Given the description of an element on the screen output the (x, y) to click on. 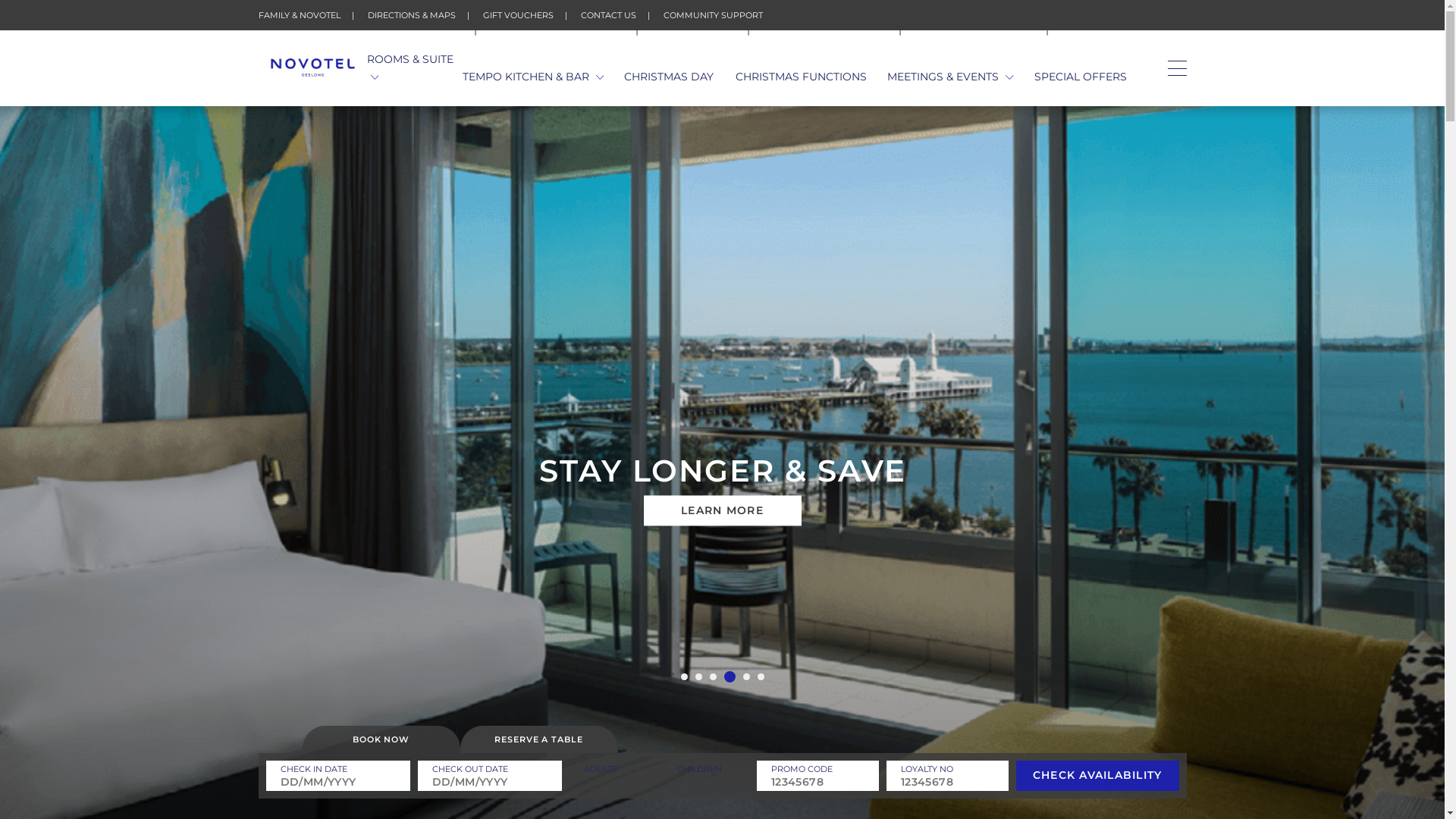
ROOMS & SUITE Element type: text (414, 68)
CHRISTMAS FUNCTIONS Element type: text (800, 76)
RESERVE A TABLE Element type: text (538, 739)
CHECK AVAILABILITY Element type: text (1097, 775)
BOOK NOW Element type: text (380, 739)
CHRISTMAS DAY Element type: text (668, 76)
LEARN MORE Element type: text (721, 510)
MEETINGS & EVENTS Element type: text (950, 76)
FAMILY & NOVOTEL Element type: text (298, 14)
SPECIAL OFFERS Element type: text (1080, 76)
DIRECTIONS & MAPS Element type: text (411, 14)
TEMPO KITCHEN & BAR Element type: text (533, 76)
CONTACT US Element type: text (608, 14)
GIFT VOUCHERS Element type: text (517, 14)
COMMUNITY SUPPORT Element type: text (712, 14)
